Given the description of an element on the screen output the (x, y) to click on. 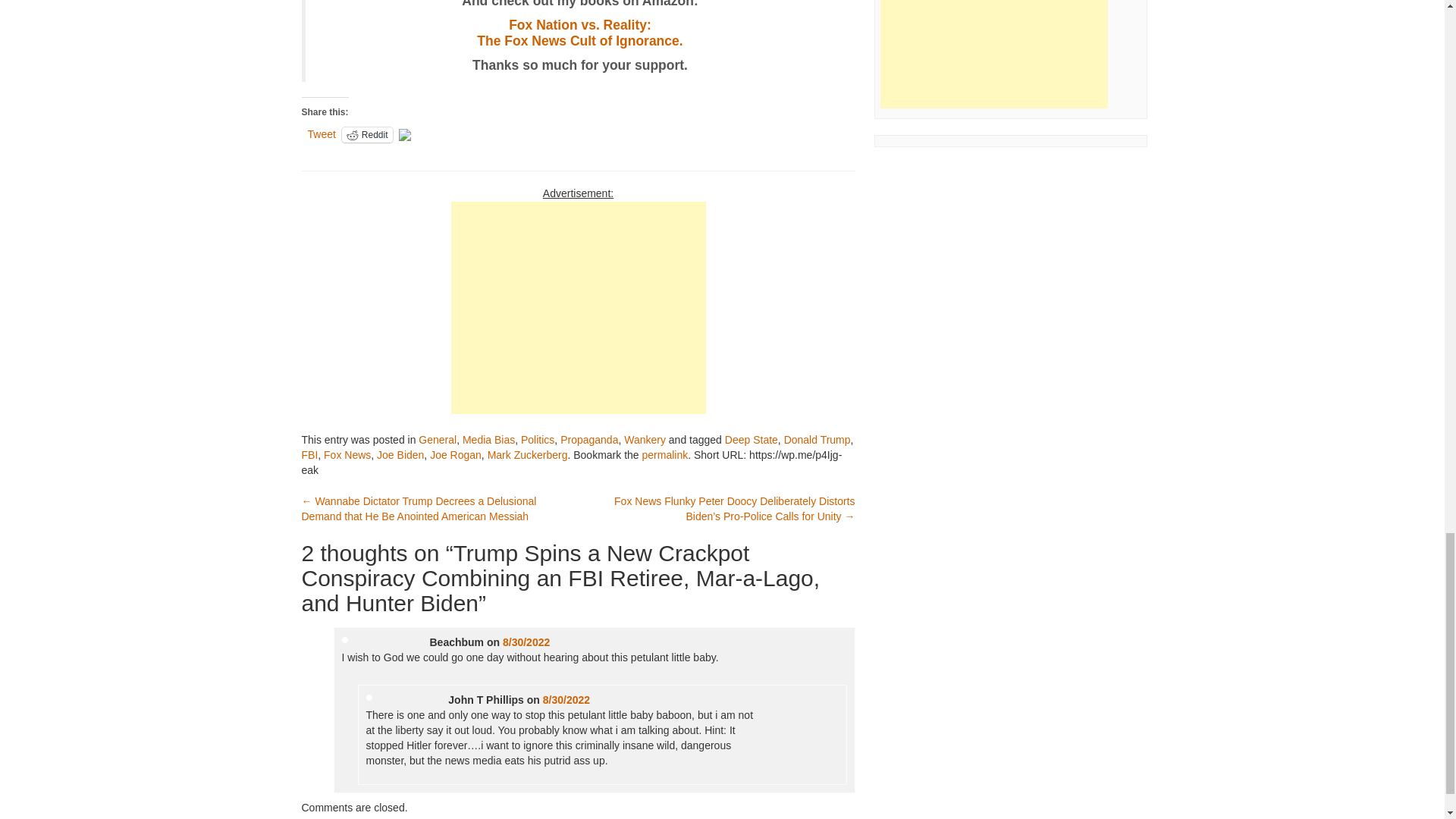
Click to share on Reddit (579, 33)
Tweet (367, 134)
